Given the description of an element on the screen output the (x, y) to click on. 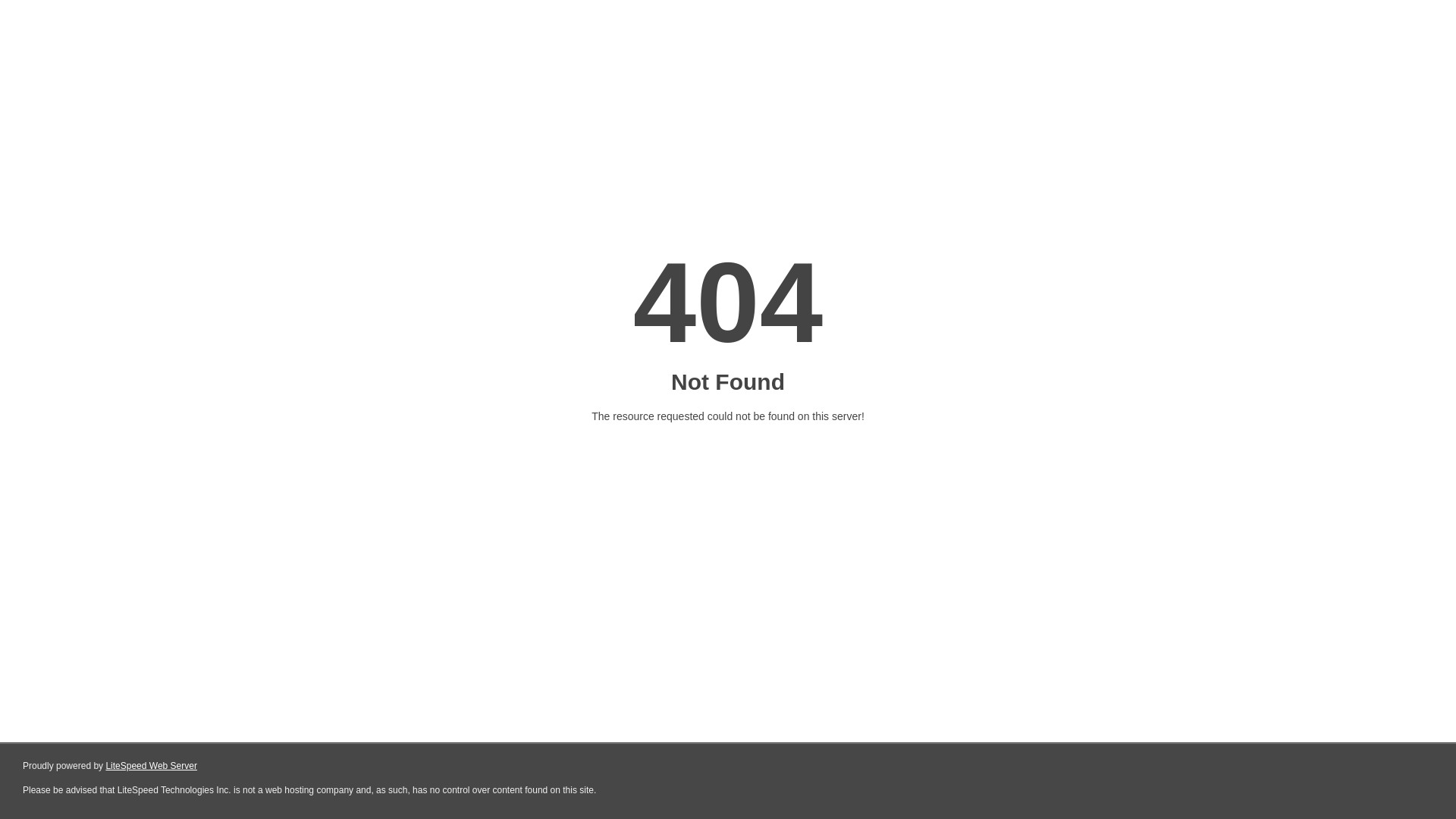
LiteSpeed Web Server Element type: text (151, 765)
